Given the description of an element on the screen output the (x, y) to click on. 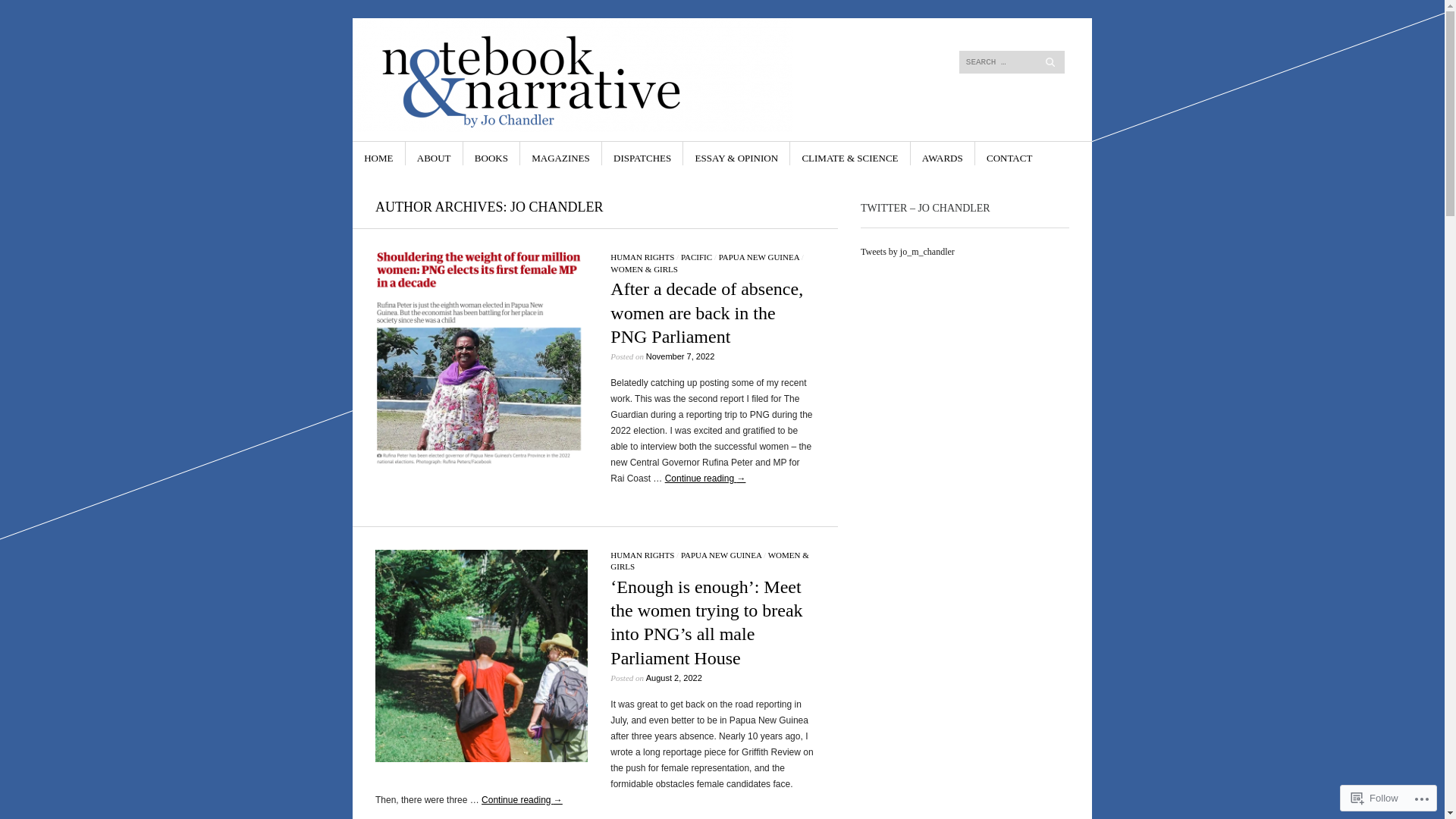
ABOUT Element type: text (434, 153)
CLIMATE & SCIENCE Element type: text (849, 153)
November 7, 2022 Element type: text (680, 355)
JO CHANDLER Element type: text (556, 206)
WOMEN & GIRLS Element type: text (709, 560)
WOMEN & GIRLS Element type: text (643, 268)
ESSAY & OPINION Element type: text (736, 153)
HUMAN RIGHTS Element type: text (642, 554)
DISPATCHES Element type: text (642, 153)
Search Element type: text (86, 11)
Follow Element type: text (1374, 797)
Tweets by jo_m_chandler Element type: text (907, 251)
PAPUA NEW GUINEA Element type: text (720, 554)
August 2, 2022 Element type: text (674, 677)
HUMAN RIGHTS Element type: text (642, 256)
AWARDS Element type: text (942, 153)
SKIP TO CONTENT Element type: text (406, 153)
CONTACT Element type: text (1009, 153)
HOME Element type: text (378, 153)
Notebook & Narrative by Jo Chandler Element type: hover (607, 74)
PAPUA NEW GUINEA Element type: text (758, 256)
MAGAZINES Element type: text (560, 153)
PACIFIC Element type: text (696, 256)
BOOKS Element type: text (491, 153)
